Given the description of an element on the screen output the (x, y) to click on. 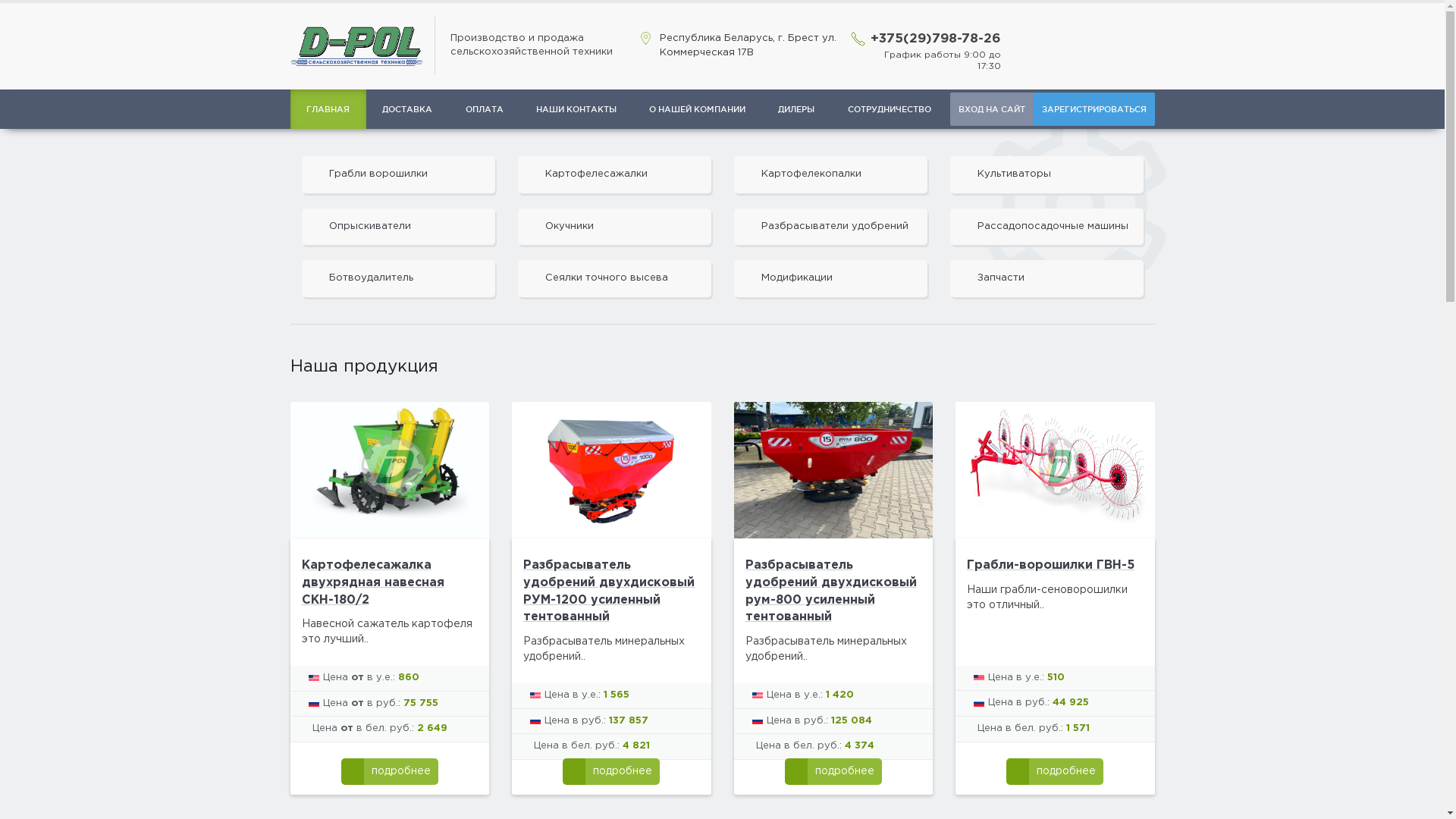
+375(29)798-78-26 Element type: text (935, 38)
